Given the description of an element on the screen output the (x, y) to click on. 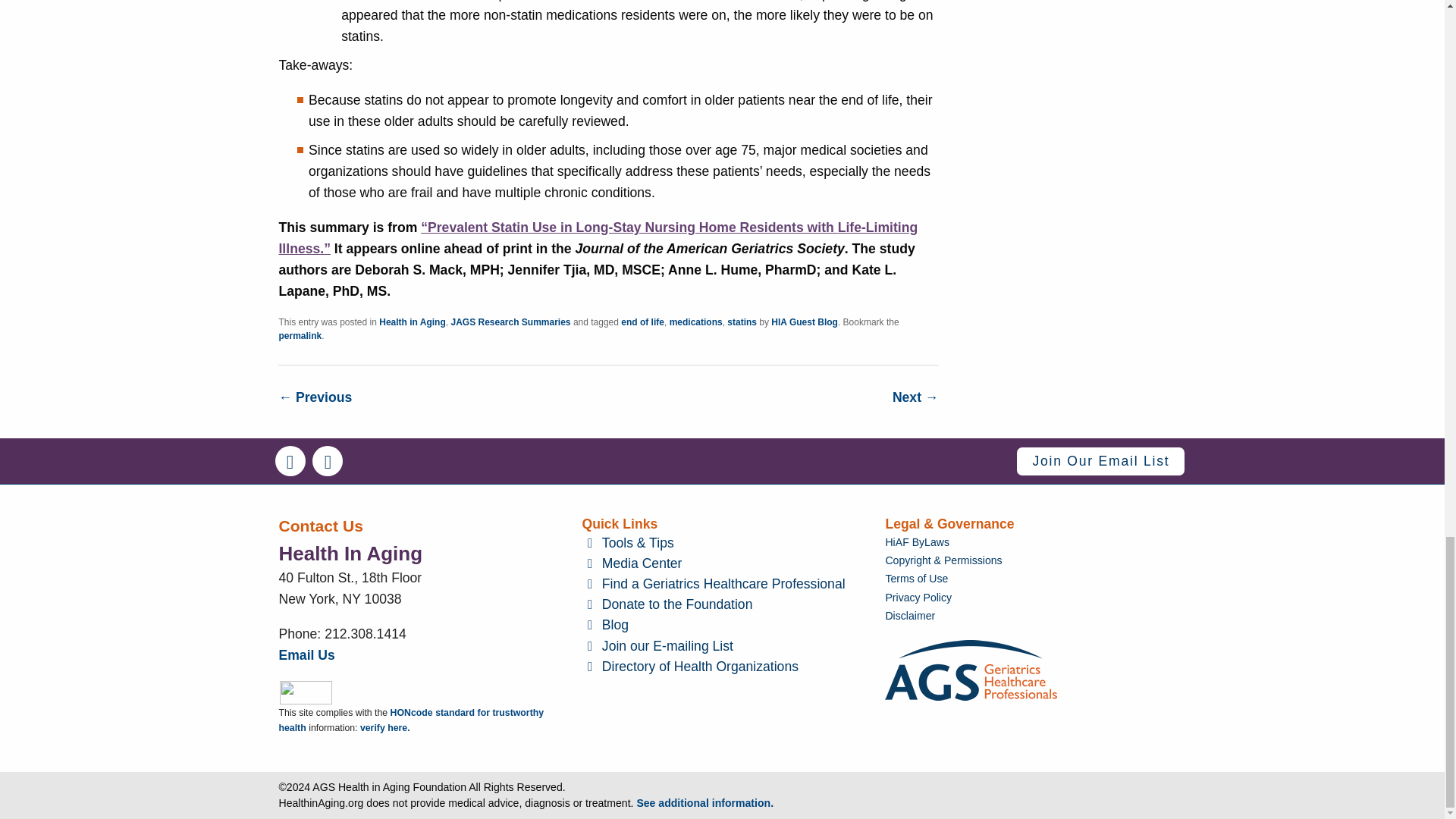
Health In Aging Twitter (327, 460)
statins (741, 321)
Health in Aging (411, 321)
permalink (299, 335)
medications (695, 321)
end of life (642, 321)
HIA Guest Blog (804, 321)
JAGS Research Summaries (509, 321)
